Given the description of an element on the screen output the (x, y) to click on. 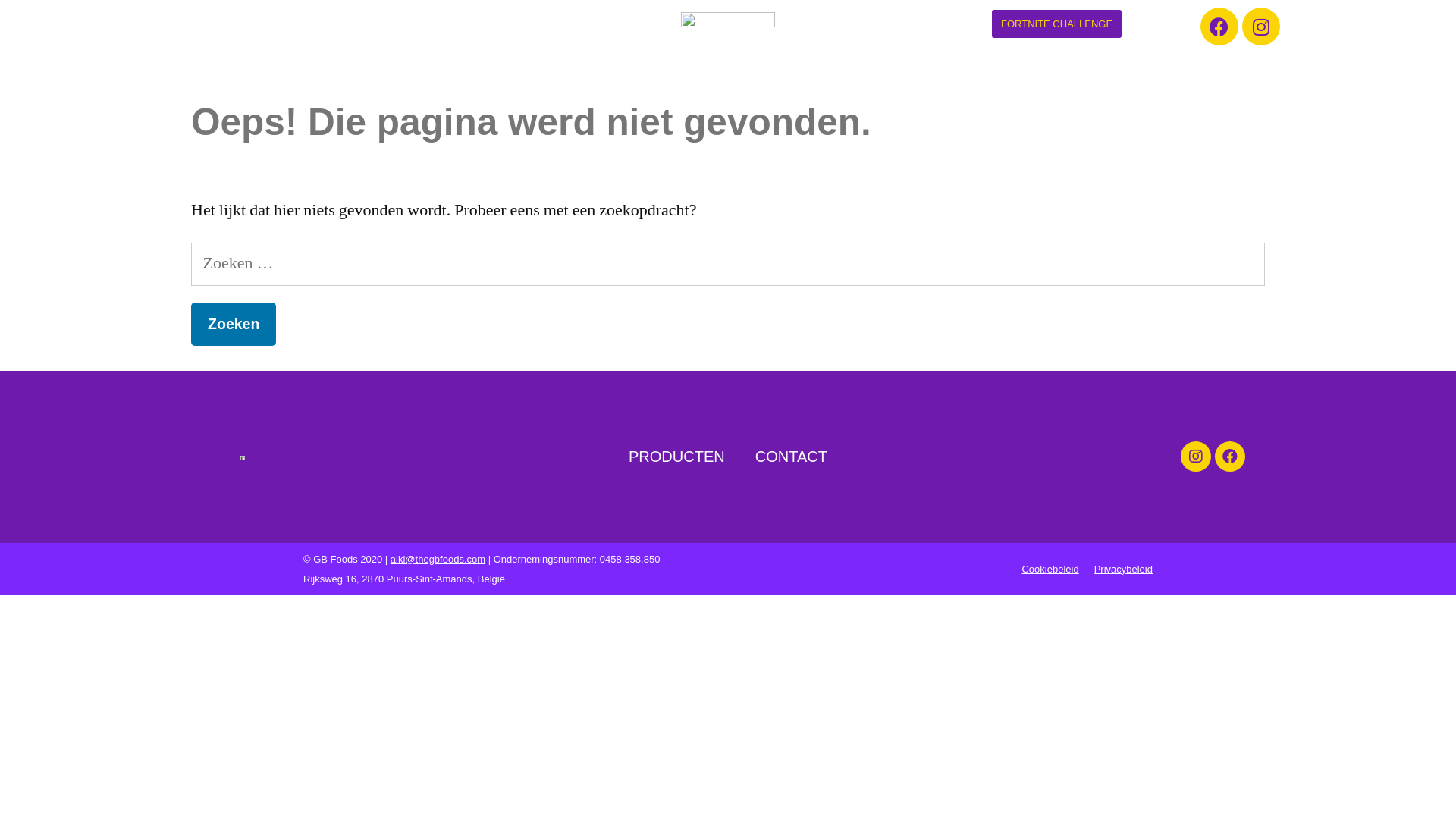
FORTNITE CHALLENGE Element type: text (1056, 23)
Cookiebeleid Element type: text (1049, 568)
PRODUCTEN Element type: text (676, 456)
Privacybeleid Element type: text (1123, 568)
CONTACT Element type: text (791, 456)
aiki@thegbfoods.com Element type: text (437, 558)
Zoeken Element type: text (233, 323)
CONTACT Element type: text (368, 24)
NIEUWS Element type: text (450, 24)
HOME Element type: text (182, 24)
PRODUCTEN Element type: text (268, 24)
